Given the description of an element on the screen output the (x, y) to click on. 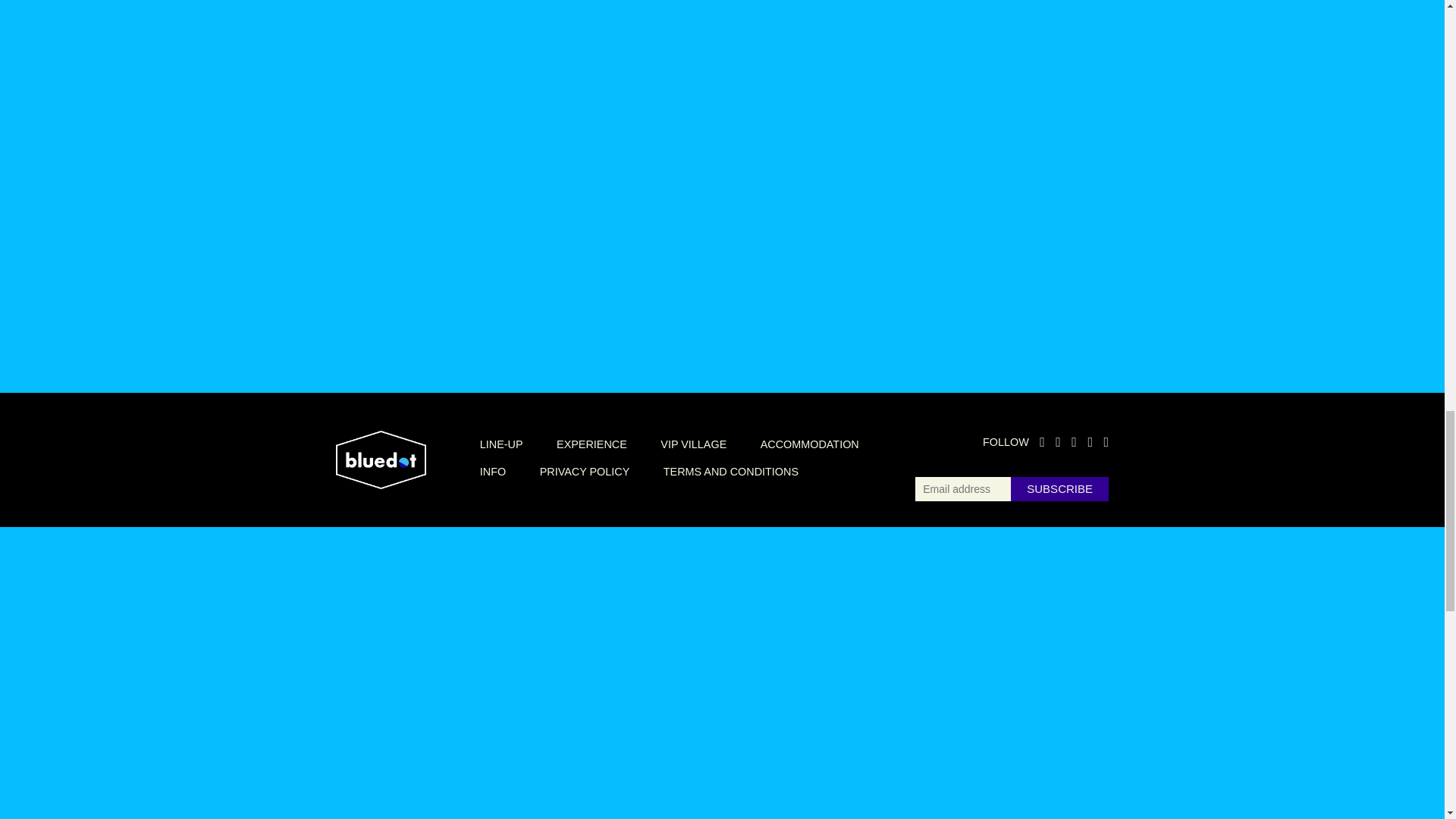
EXPERIENCE (591, 444)
SUBSCRIBE (1059, 488)
ACCOMMODATION (809, 444)
VIP VILLAGE (693, 444)
TERMS AND CONDITIONS (730, 471)
INFO (492, 471)
PRIVACY POLICY (585, 471)
LINE-UP (501, 444)
